Given the description of an element on the screen output the (x, y) to click on. 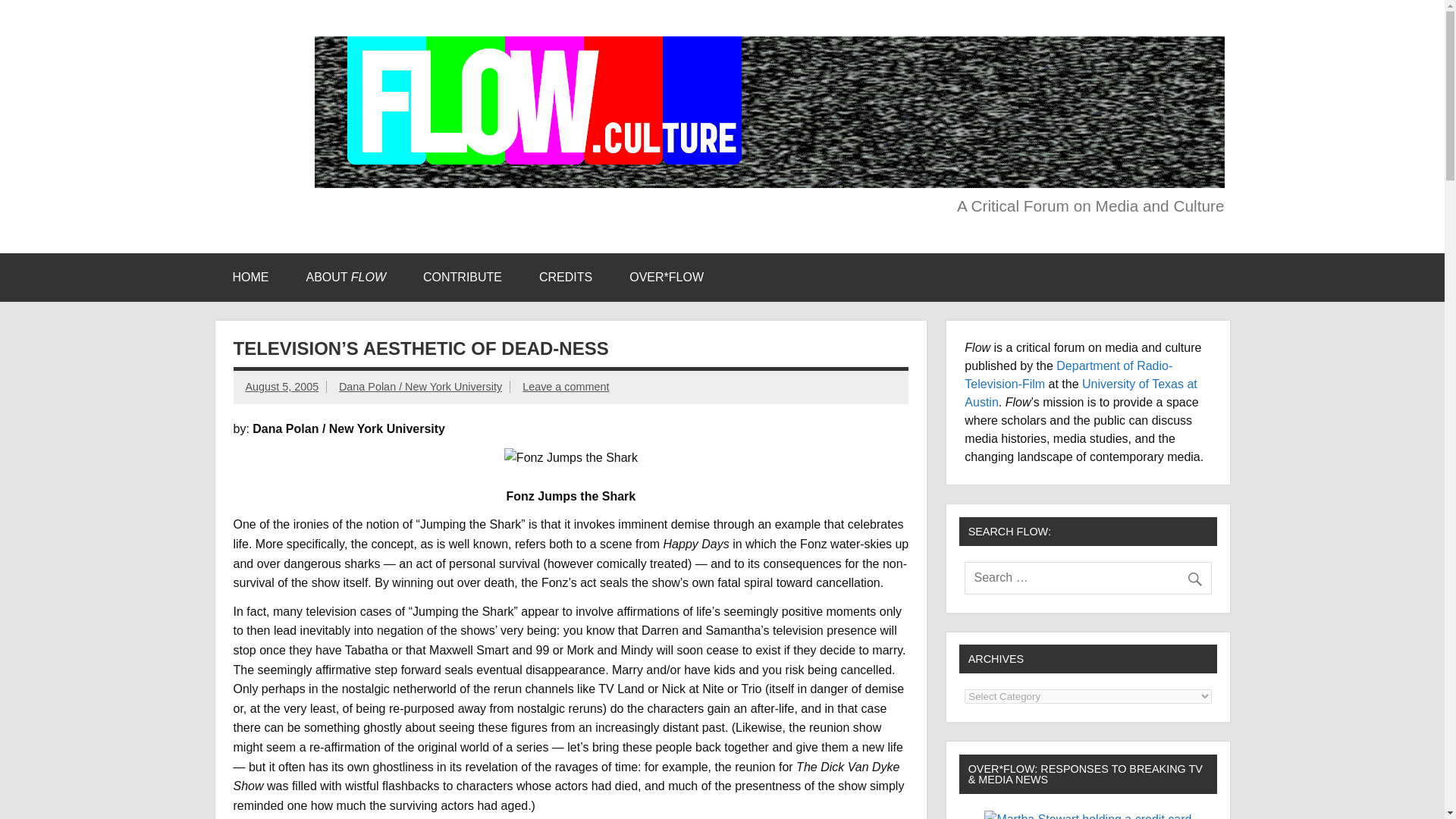
12:20 am (282, 386)
ABOUT FLOW (346, 277)
August 5, 2005 (282, 386)
CREDITS (565, 277)
HOME (250, 277)
Department of Radio-Television-Film (1067, 374)
University of Texas at Austin (1079, 392)
CONTRIBUTE (461, 277)
Flow (253, 51)
Leave a comment (565, 386)
